Given the description of an element on the screen output the (x, y) to click on. 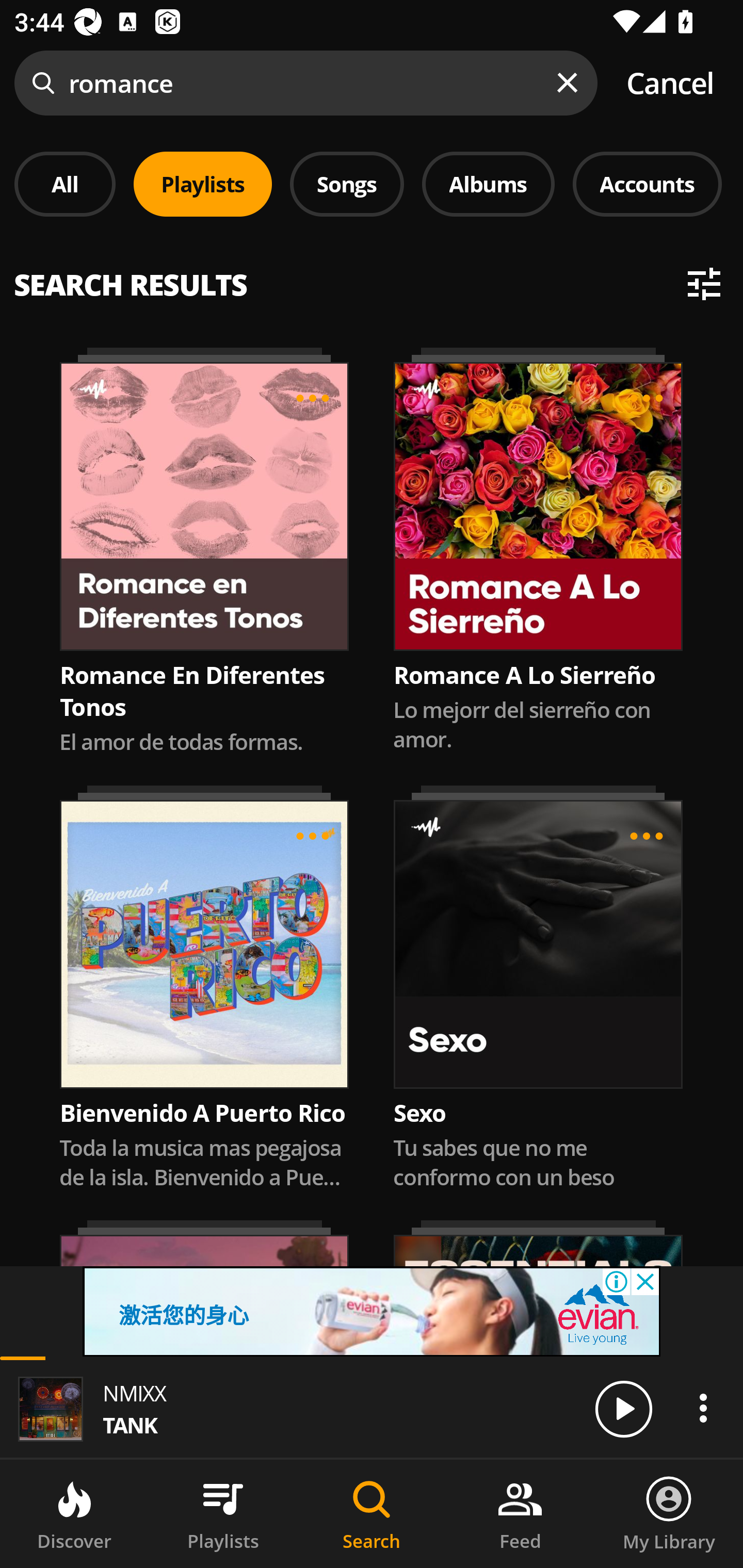
romance Cancel (371, 82)
Cancel (670, 82)
All (64, 184)
Playlists (202, 184)
Songs (346, 184)
Albums (488, 184)
Accounts (647, 184)
All Country Afrosounds Pop Caribbean (371, 275)
Actions (703, 1407)
Play/Pause (623, 1408)
Discover (74, 1513)
Playlists (222, 1513)
Search (371, 1513)
Feed (519, 1513)
My Library (668, 1513)
